Given the description of an element on the screen output the (x, y) to click on. 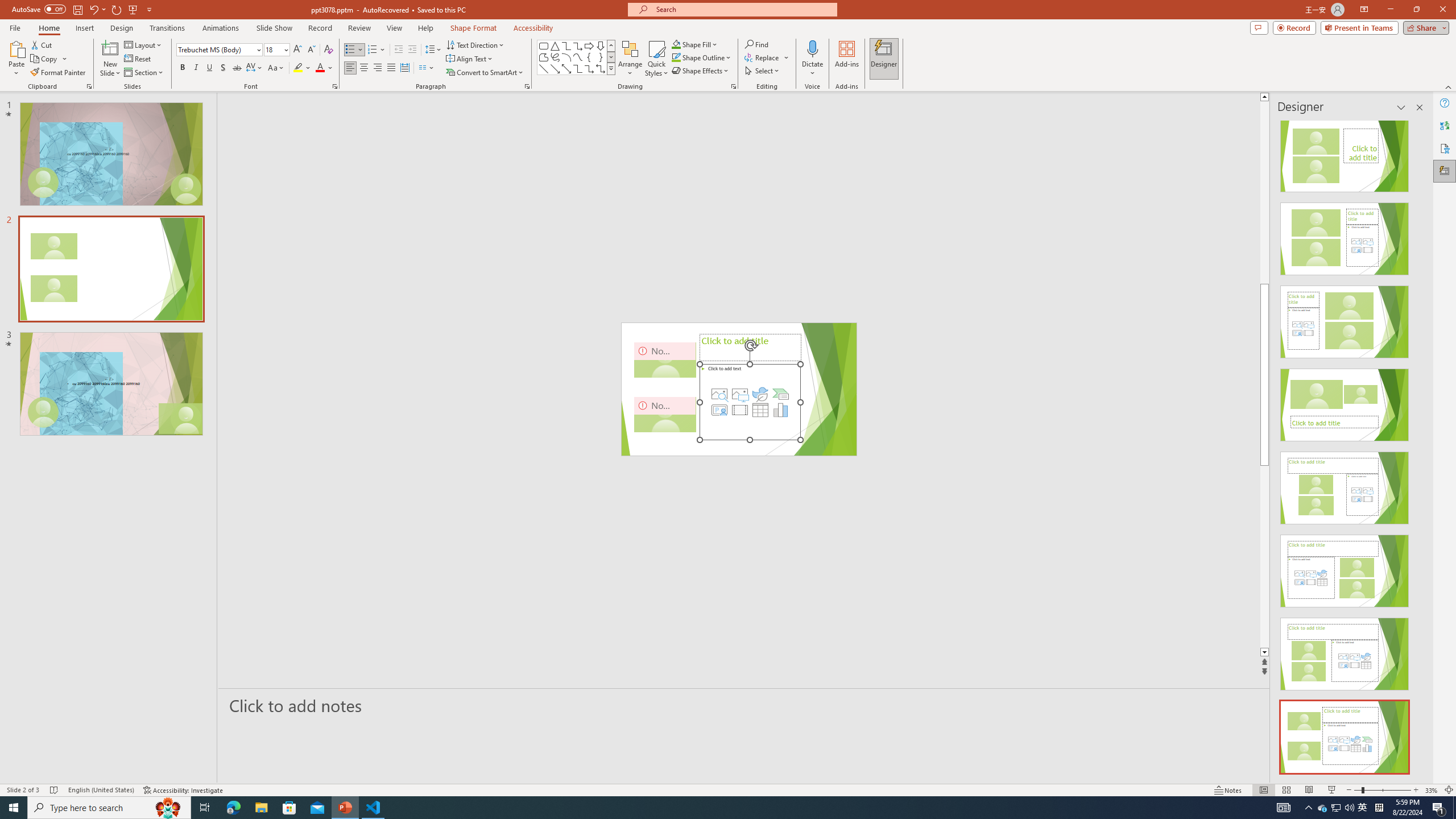
Insert Video (739, 409)
